Given the description of an element on the screen output the (x, y) to click on. 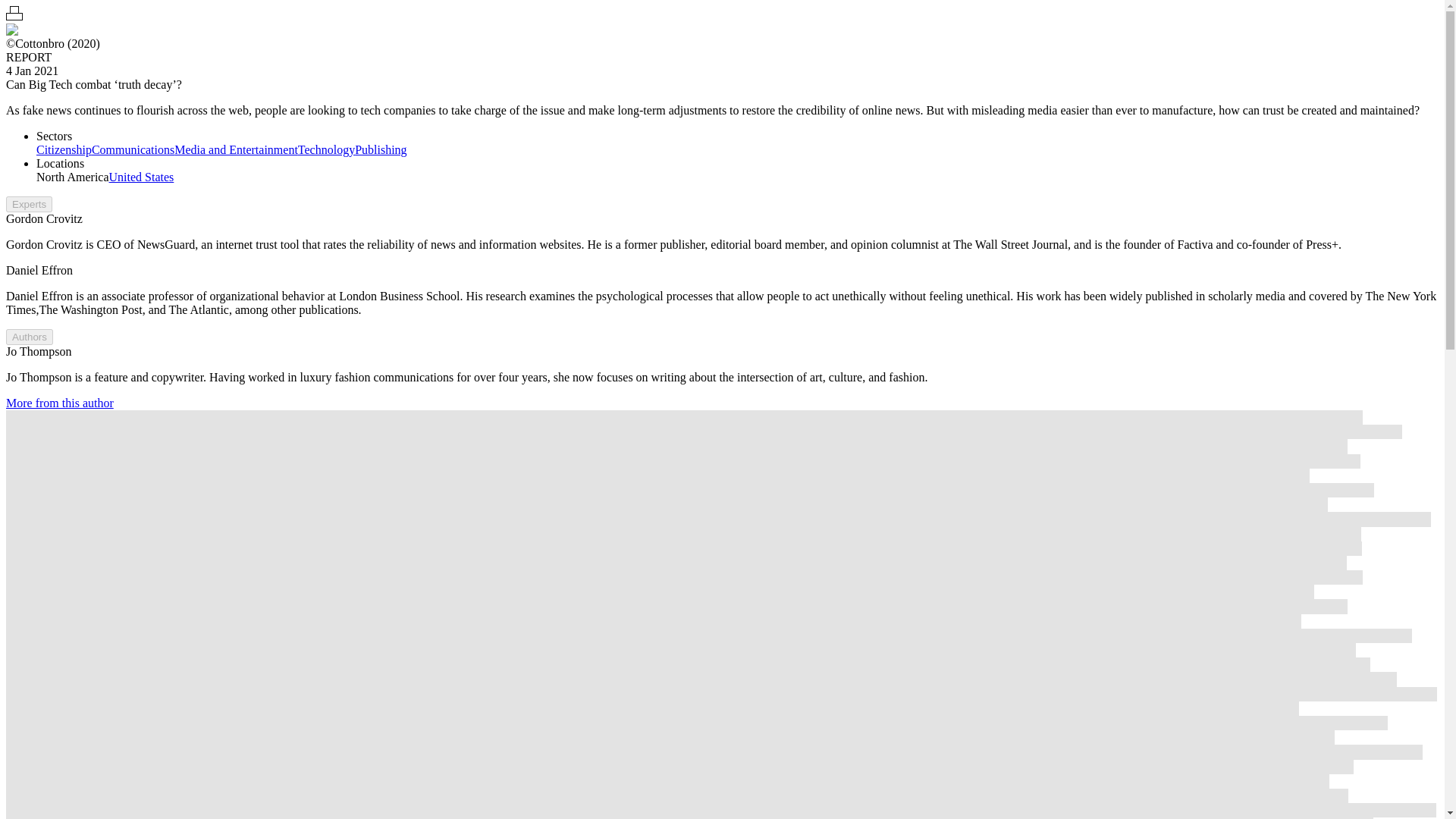
Media and Entertainment (236, 149)
Communications (132, 149)
Experts (28, 204)
Citizenship (63, 149)
More from this author (59, 402)
United States (141, 176)
Authors (28, 336)
Technology (326, 149)
Publishing (380, 149)
